Given the description of an element on the screen output the (x, y) to click on. 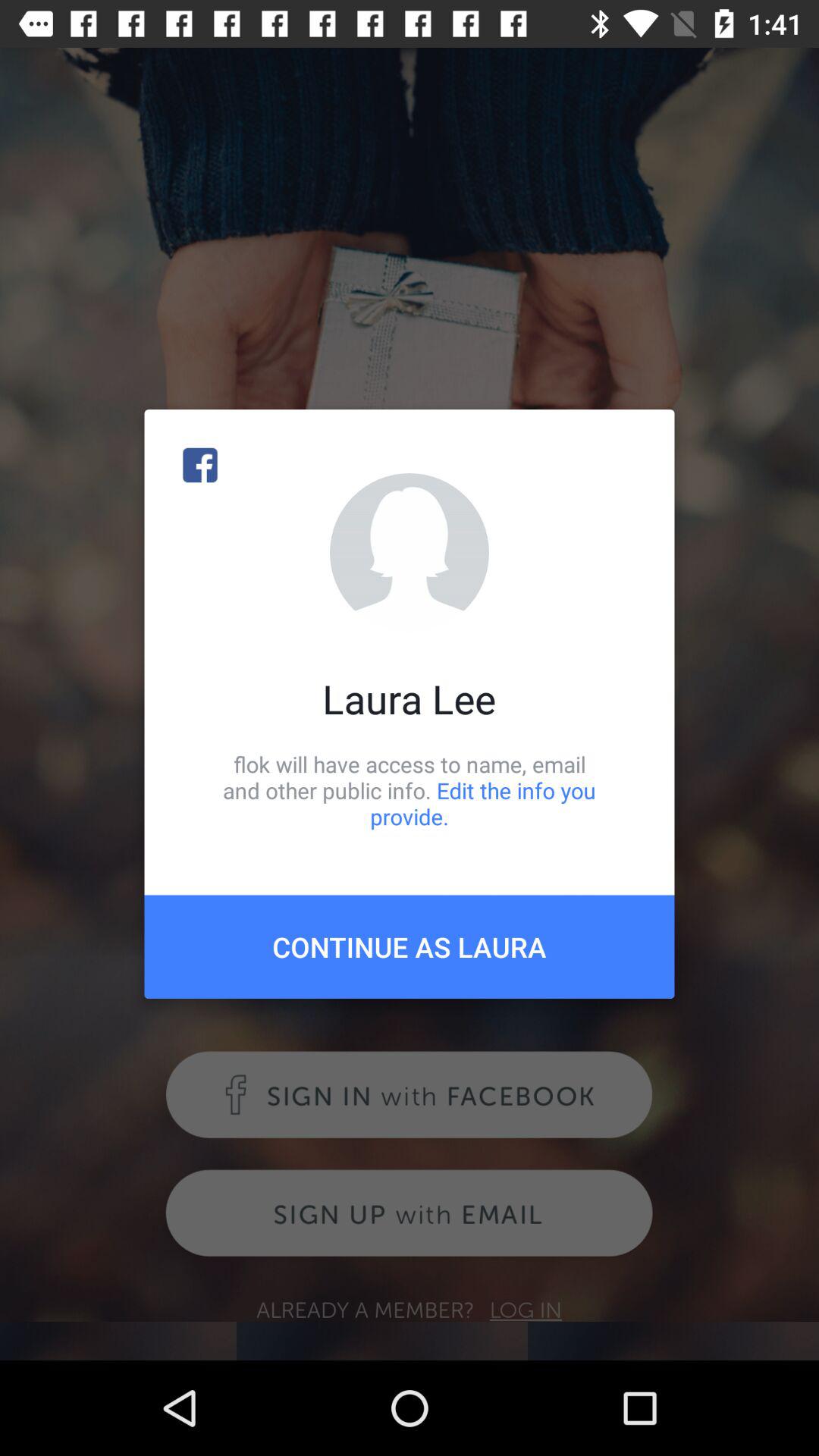
press the continue as laura (409, 946)
